Given the description of an element on the screen output the (x, y) to click on. 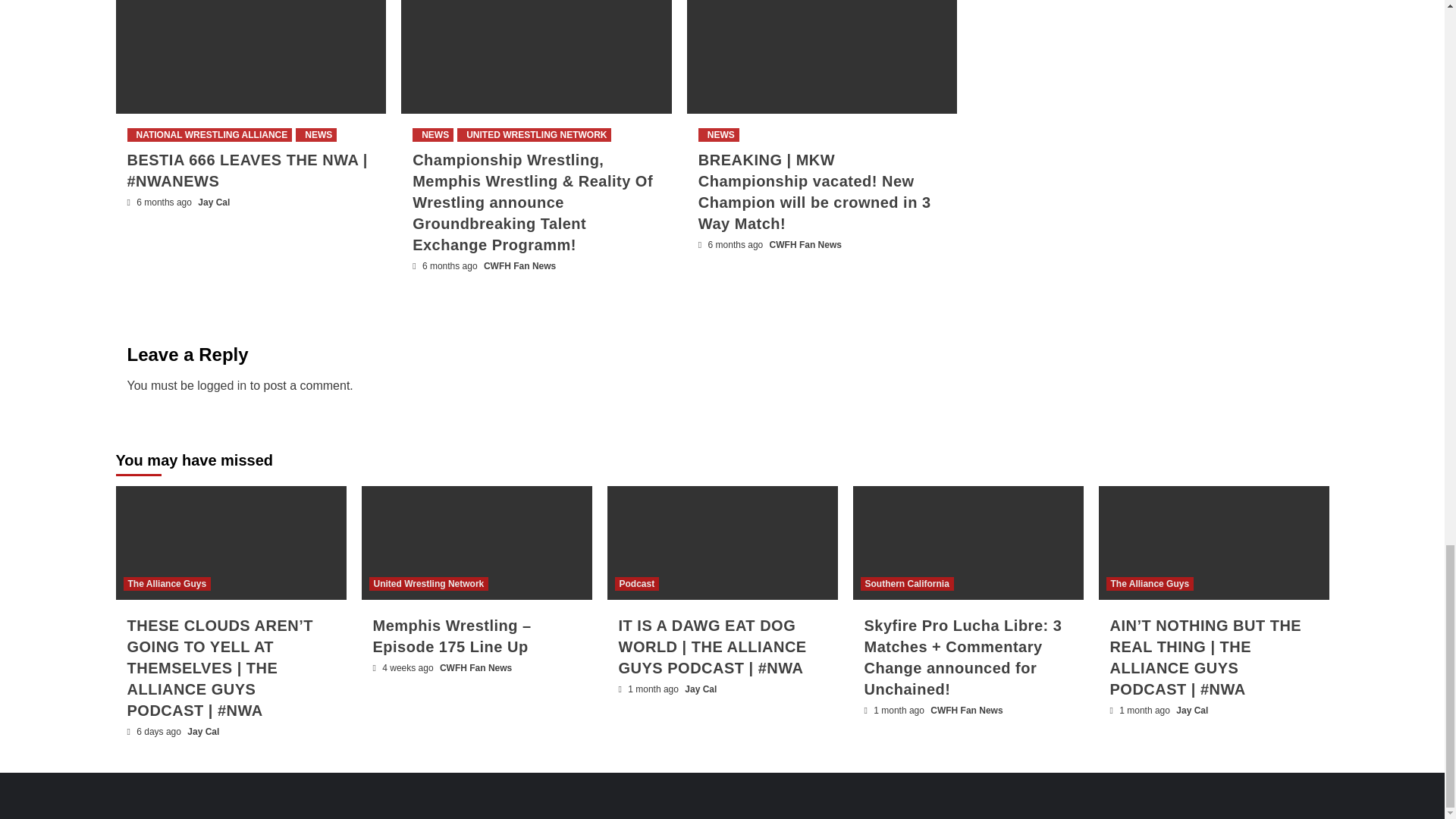
NEWS (718, 134)
NEWS (315, 134)
UNITED WRESTLING NETWORK (534, 134)
NATIONAL WRESTLING ALLIANCE (210, 134)
CWFH Fan News (805, 244)
NEWS (432, 134)
Jay Cal (214, 202)
CWFH Fan News (519, 266)
